Given the description of an element on the screen output the (x, y) to click on. 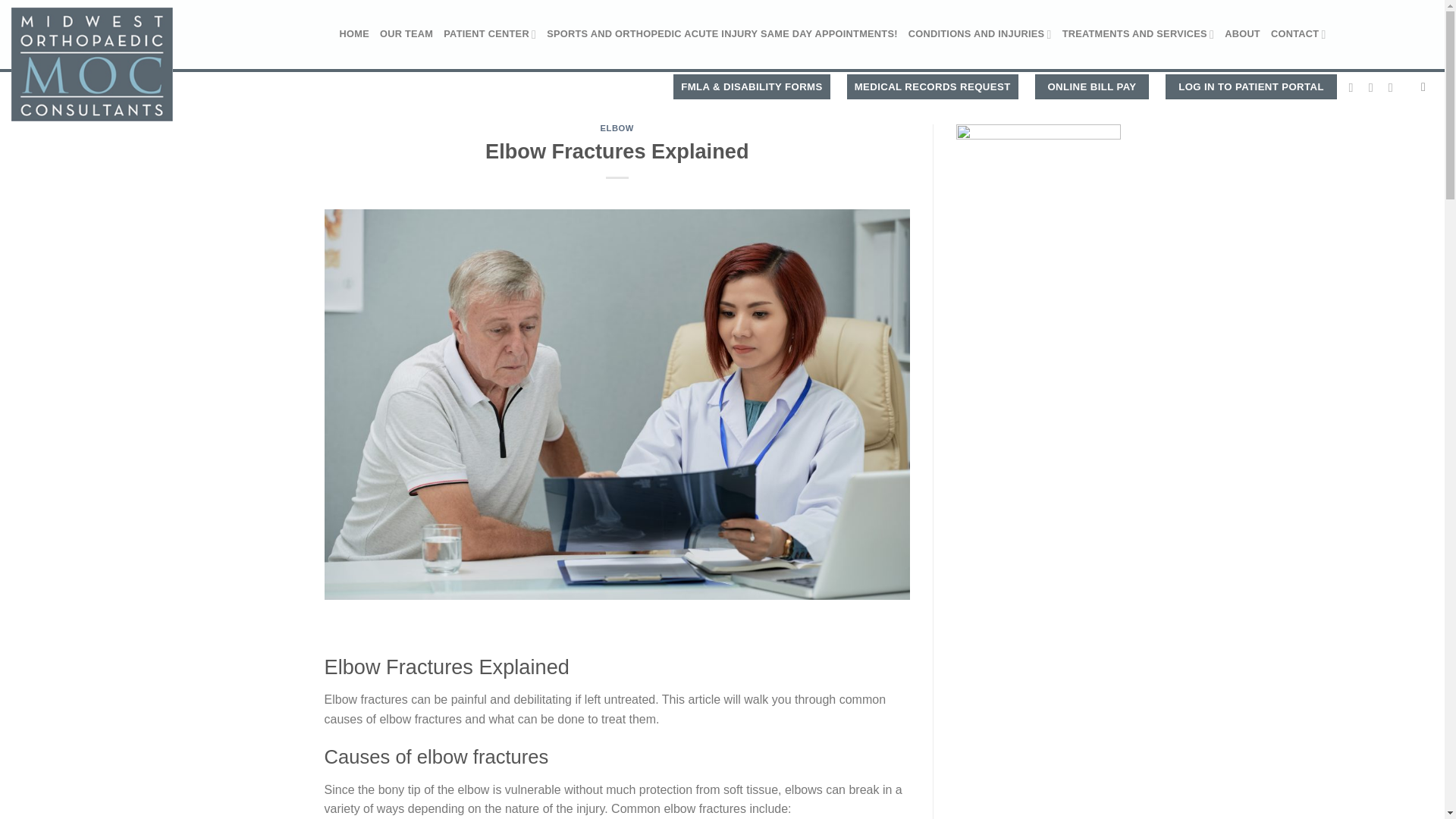
SPORTS AND ORTHOPEDIC ACUTE INJURY SAME DAY APPOINTMENTS! (722, 33)
Follow on Instagram (1374, 87)
OUR TEAM (406, 33)
ABOUT (1242, 33)
TREATMENTS AND SERVICES (1138, 33)
MEDICAL RECORDS REQUEST (932, 86)
PATIENT CENTER (489, 33)
Follow on Facebook (1355, 87)
Midwest Orthopedic Consultants - World-Class Orthopedic Care (148, 64)
CONTACT (1298, 33)
LOG IN TO PATIENT PORTAL (1251, 86)
CONDITIONS AND INJURIES (979, 33)
ONLINE BILL PAY (1092, 86)
HOME (354, 33)
